Given the description of an element on the screen output the (x, y) to click on. 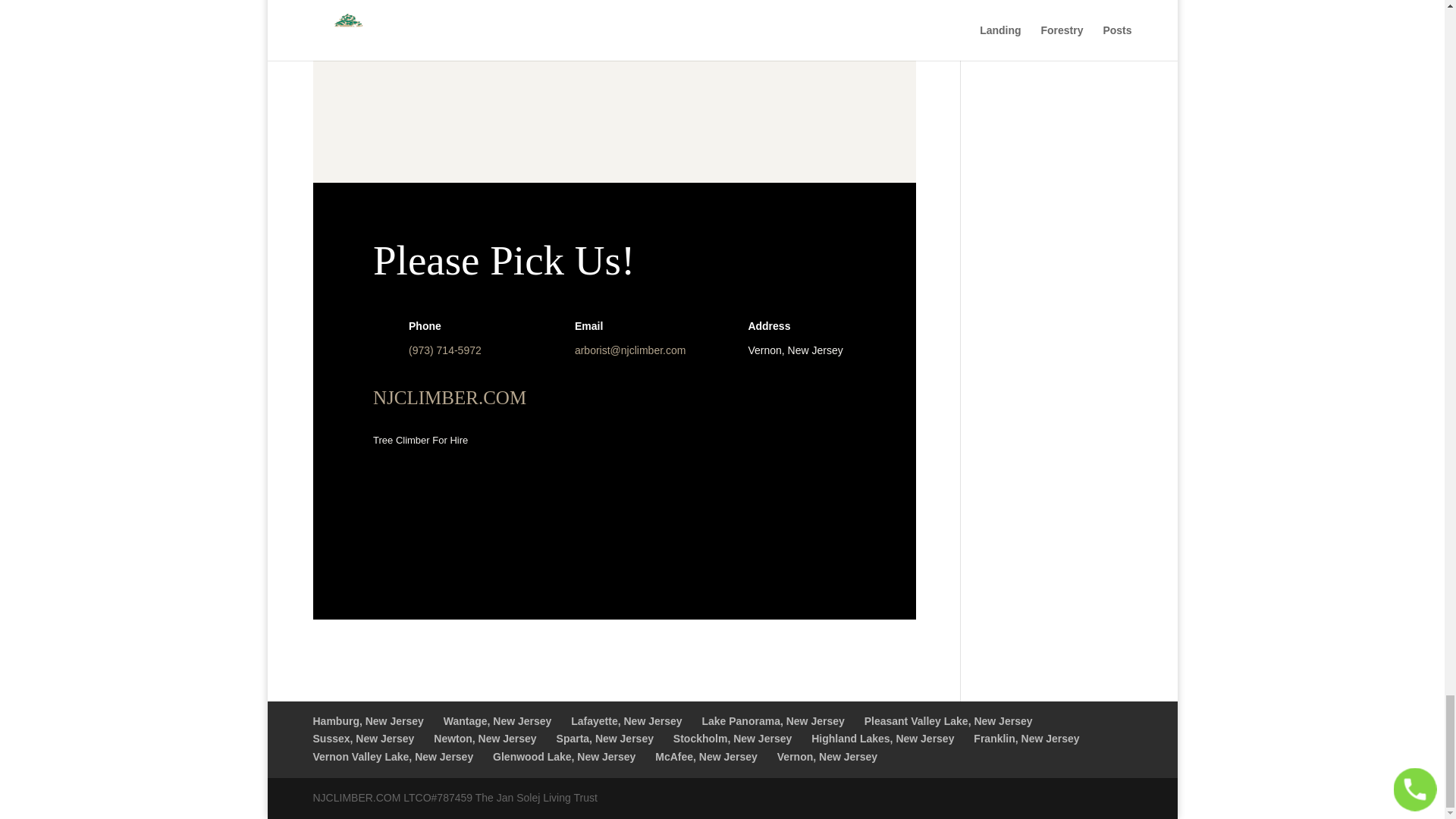
Lake Panorama, New Jersey (772, 720)
Lafayette, New Jersey (625, 720)
Highland Lakes, New Jersey (881, 738)
Sparta, New Jersey (604, 738)
Vernon Valley Lake, New Jersey (393, 756)
Franklin, New Jersey (1026, 738)
Pleasant Valley Lake, New Jersey (948, 720)
Wantage, New Jersey (497, 720)
Stockholm, New Jersey (732, 738)
Sussex, New Jersey (363, 738)
Newton, New Jersey (484, 738)
Hamburg, New Jersey (368, 720)
